Given the description of an element on the screen output the (x, y) to click on. 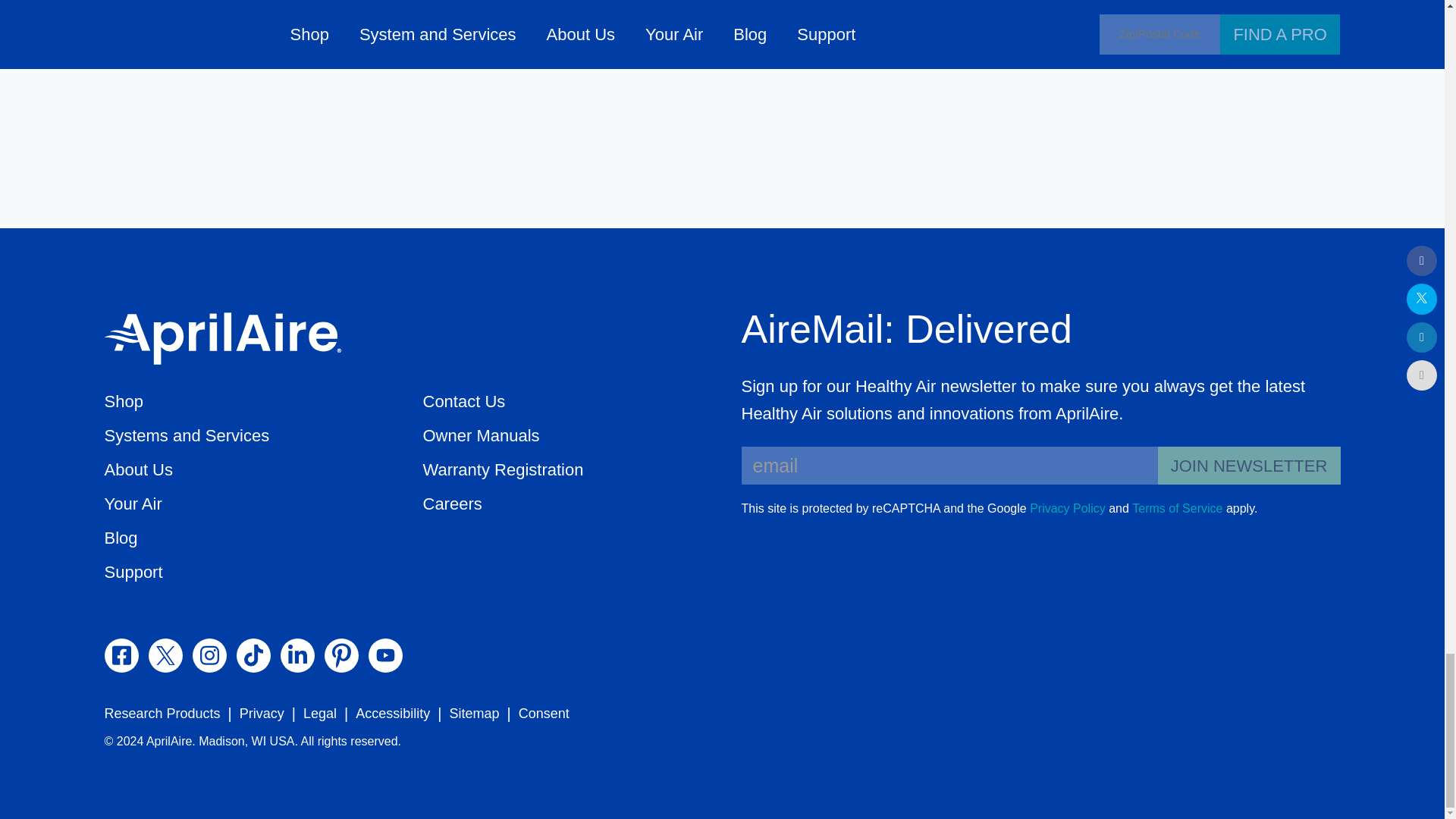
opens in a new window (165, 655)
opens in a new window (1177, 508)
opens in a new window (209, 655)
opens in a new window (1067, 508)
opens in a new window (121, 655)
opens in a new window (252, 655)
